Given the description of an element on the screen output the (x, y) to click on. 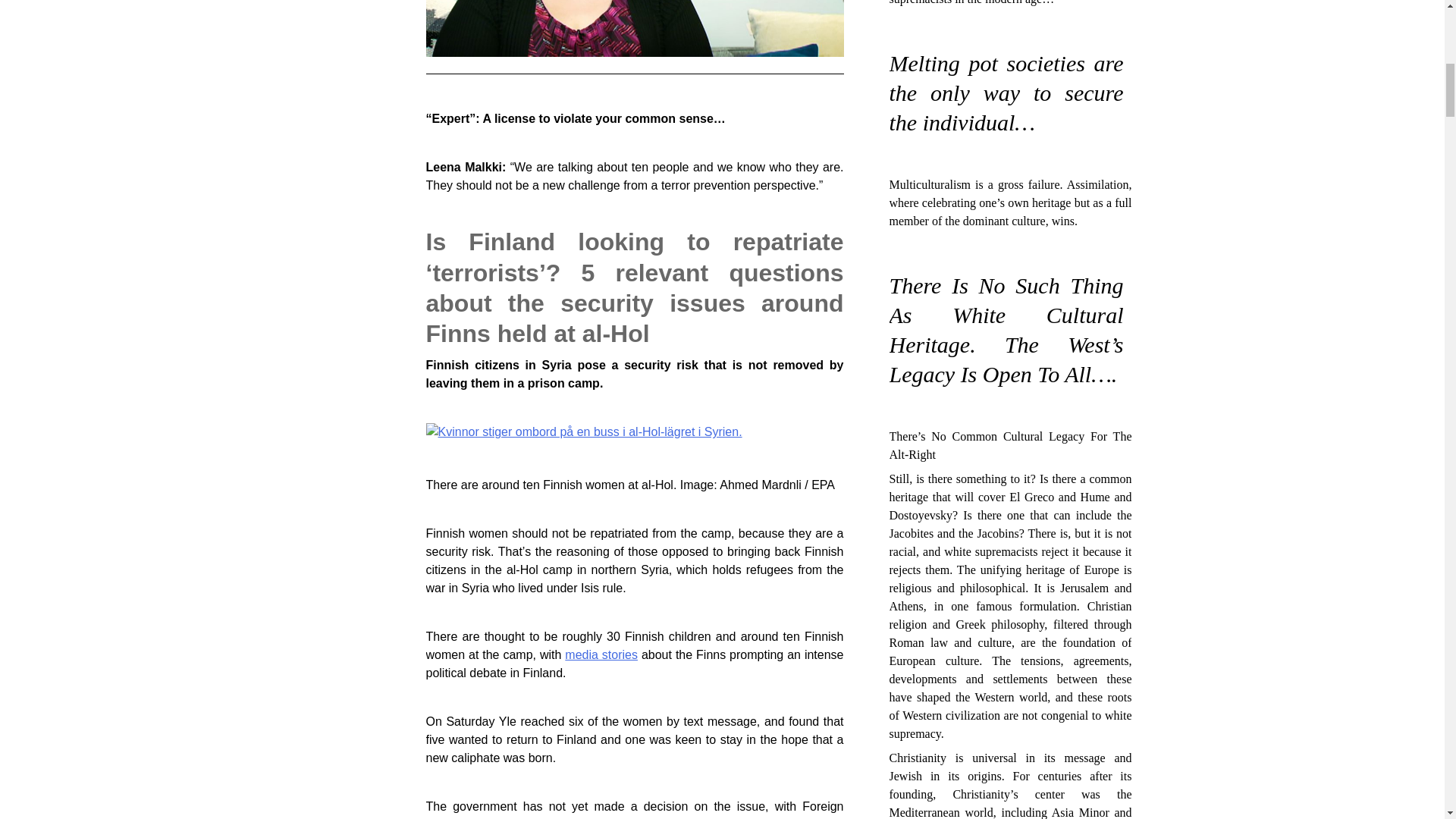
There are around ten Finnish women at al-Hol.  (635, 432)
media stories (600, 654)
